Given the description of an element on the screen output the (x, y) to click on. 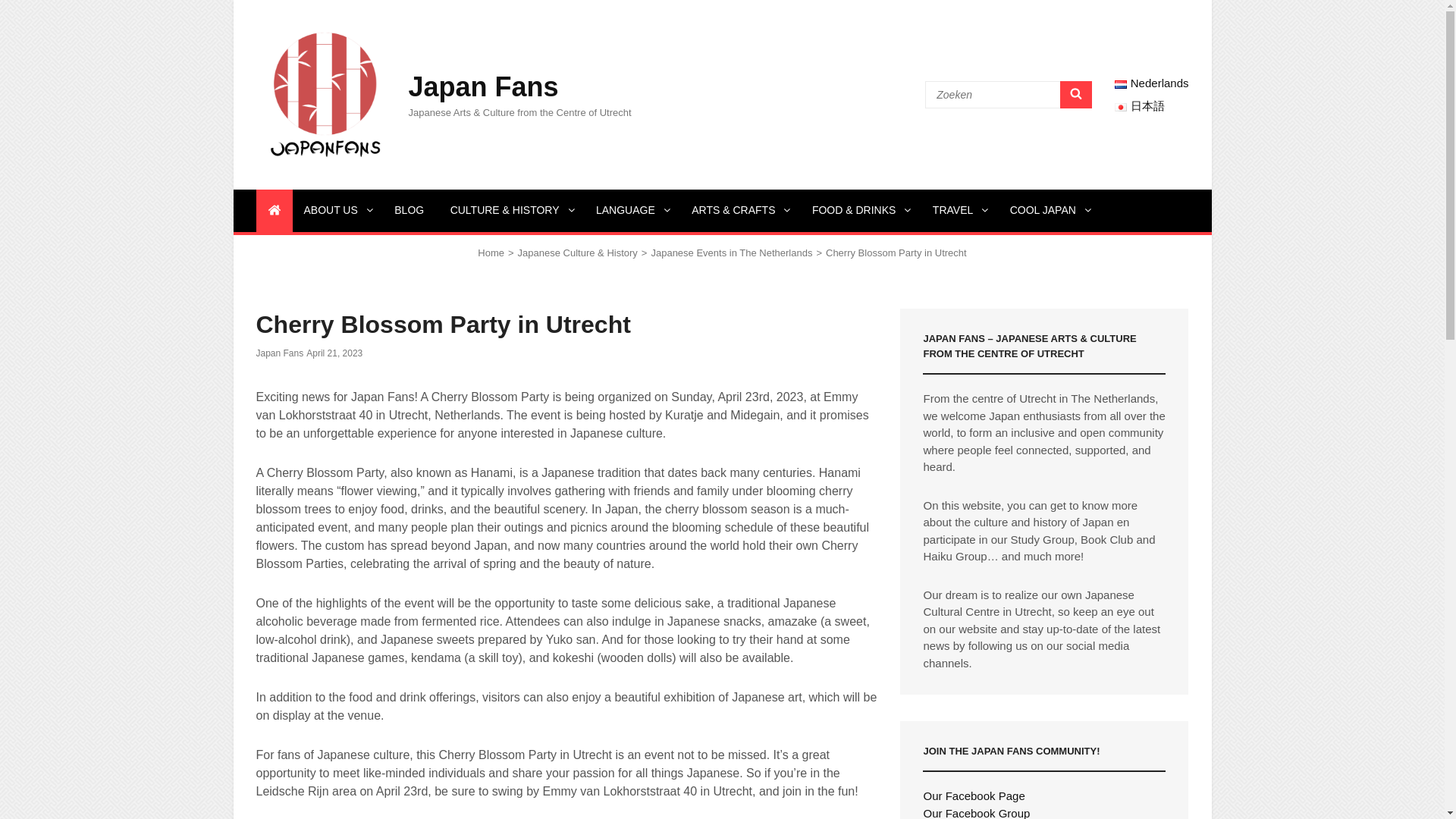
Nederlands (1151, 82)
ABOUT US (336, 210)
SEARCH (1075, 94)
BLOG (408, 210)
LANGUAGE (631, 210)
Japan Fans (482, 86)
